Given the description of an element on the screen output the (x, y) to click on. 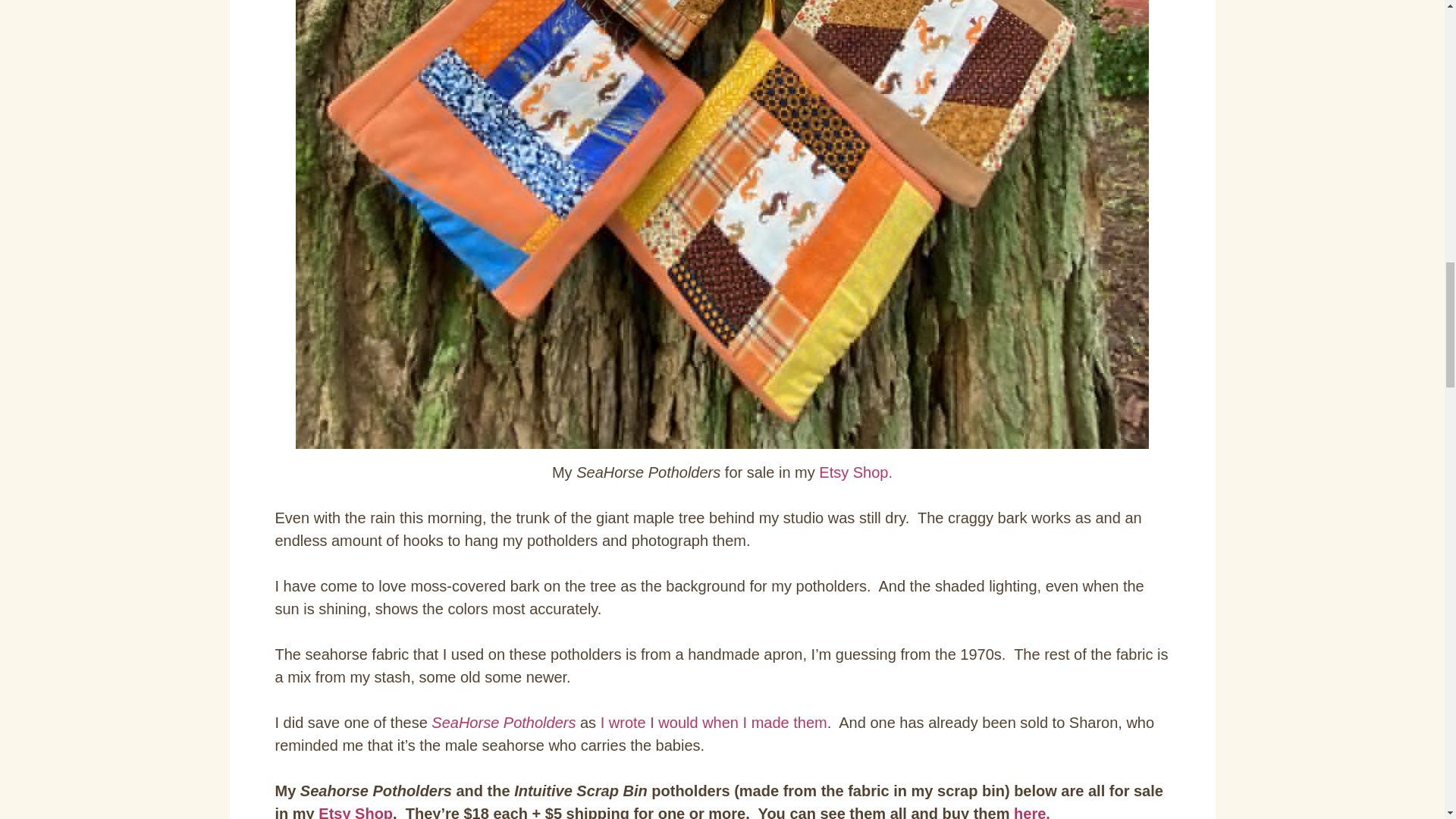
I wrote I would when I made them (711, 722)
SeaHorse Potholders (502, 722)
here.  (1033, 812)
Etsy Shop. (855, 472)
Etsy Shop (355, 812)
